Given the description of an element on the screen output the (x, y) to click on. 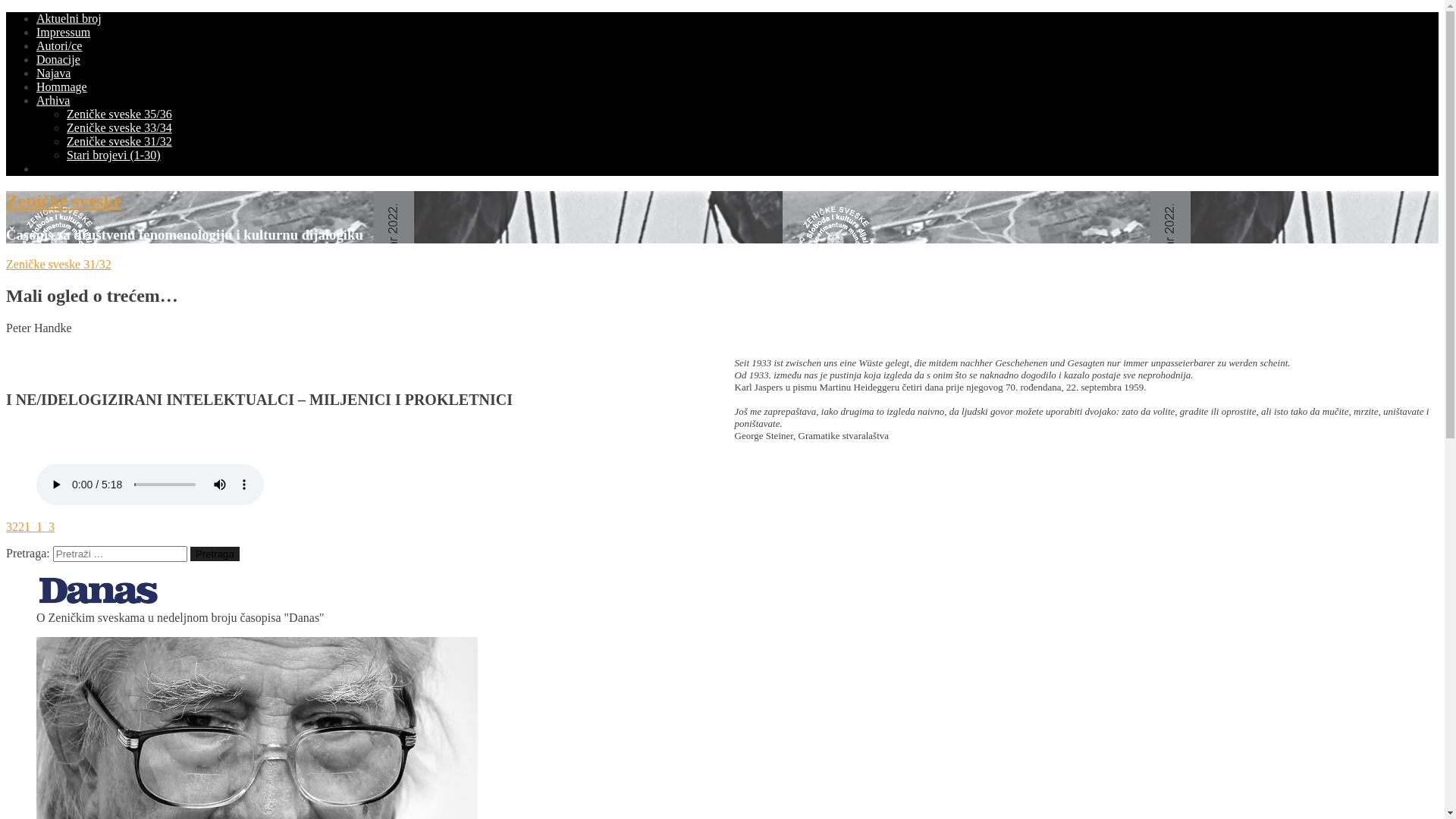
Stari brojevi (1-30) Element type: text (113, 154)
Najava Element type: text (53, 72)
Aktuelni broj Element type: text (68, 18)
3221_1_3 Element type: text (30, 526)
Impressum Element type: text (63, 31)
Hommage Element type: text (61, 86)
Donacije Element type: text (58, 59)
Arhiva Element type: text (52, 100)
Pretraga Element type: text (214, 553)
Autori/ce Element type: text (58, 45)
